Given the description of an element on the screen output the (x, y) to click on. 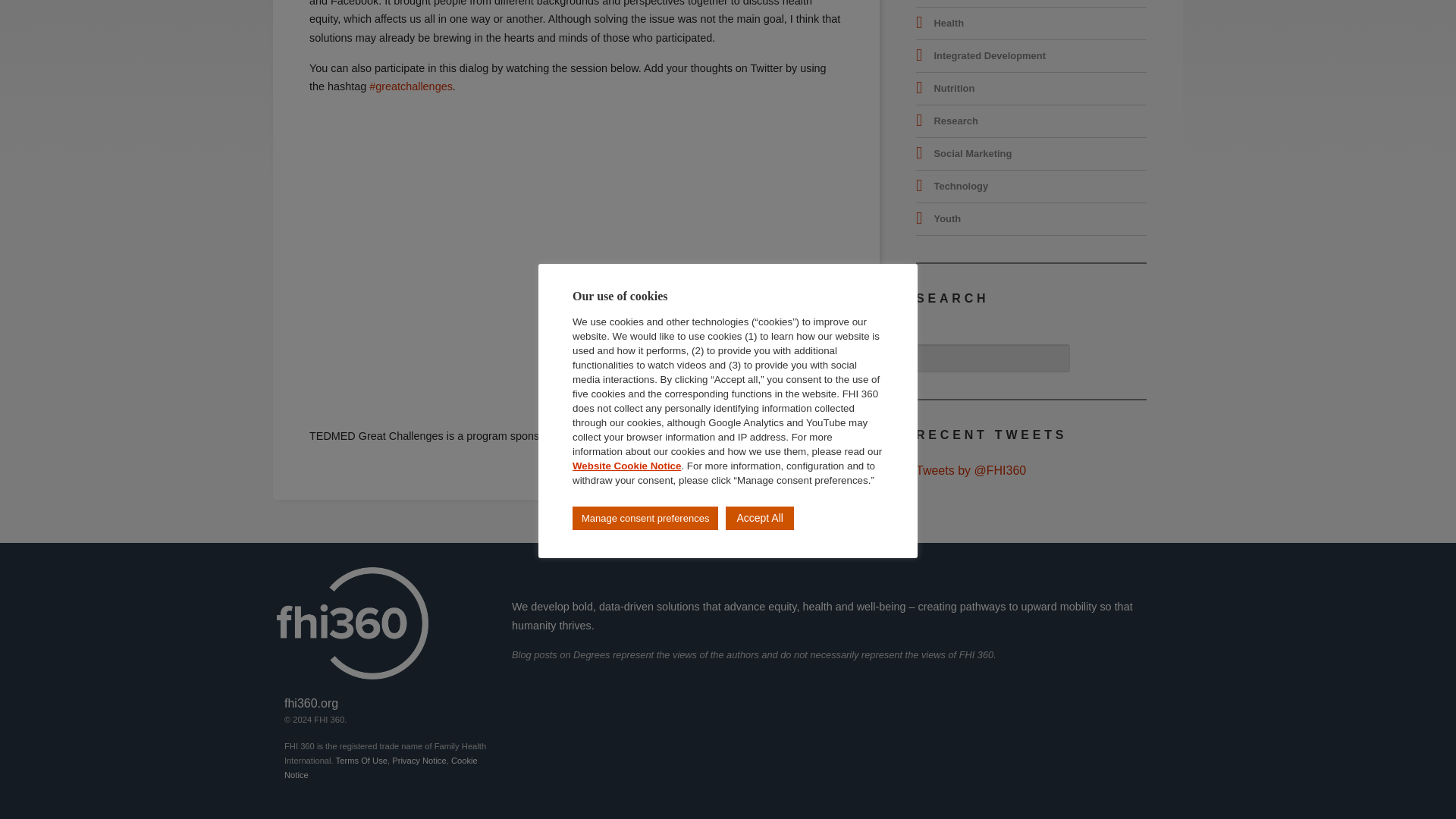
Health (948, 23)
Technology (960, 186)
Gender (950, 3)
Research (954, 121)
Nutrition (953, 88)
Integrated Development (989, 56)
Social Marketing (972, 153)
